Given the description of an element on the screen output the (x, y) to click on. 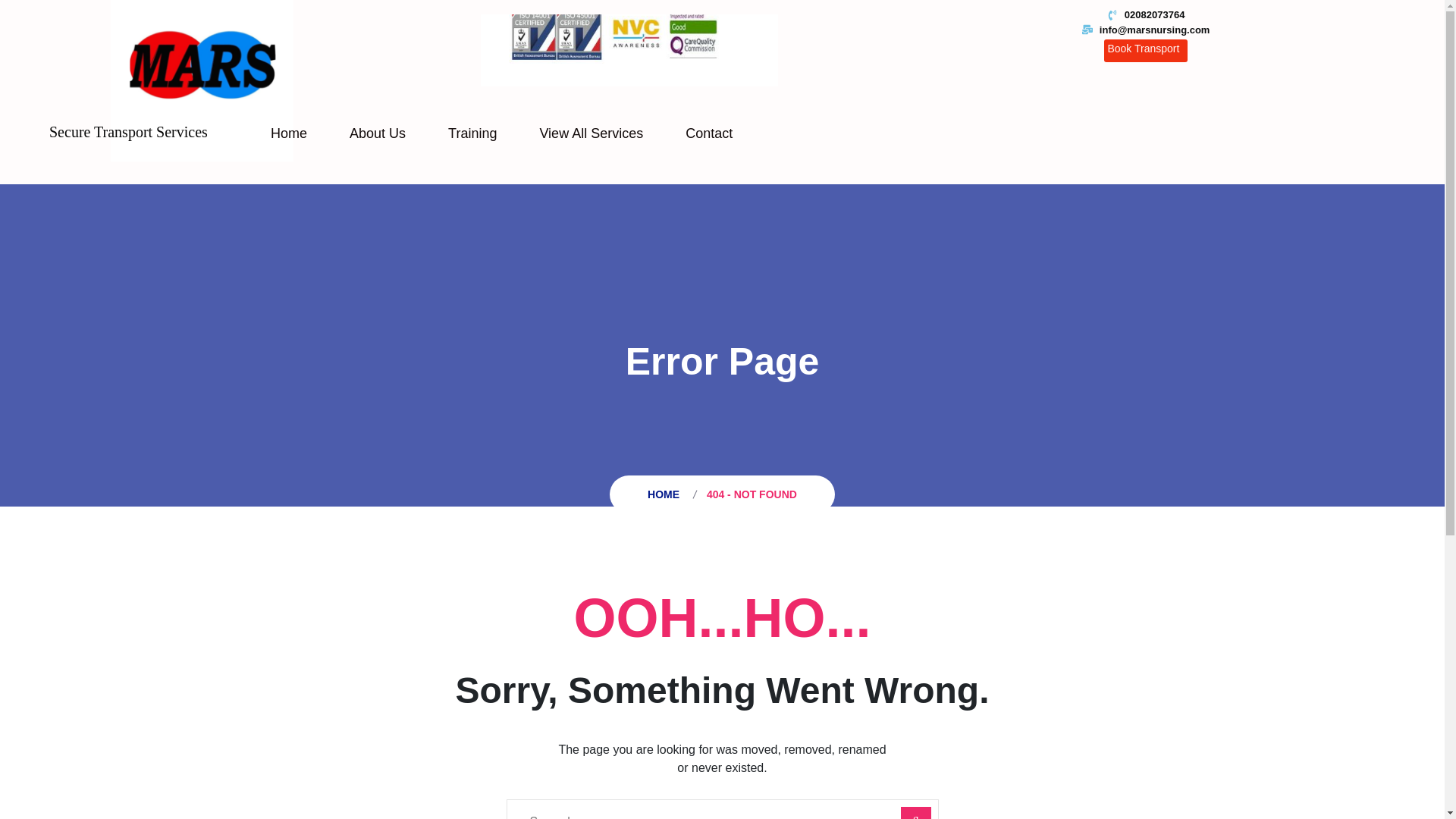
HOME   (666, 494)
View All Services (590, 133)
Contact (708, 133)
Home (288, 133)
Training (472, 133)
Book Transport (1145, 50)
About Us (377, 133)
